Given the description of an element on the screen output the (x, y) to click on. 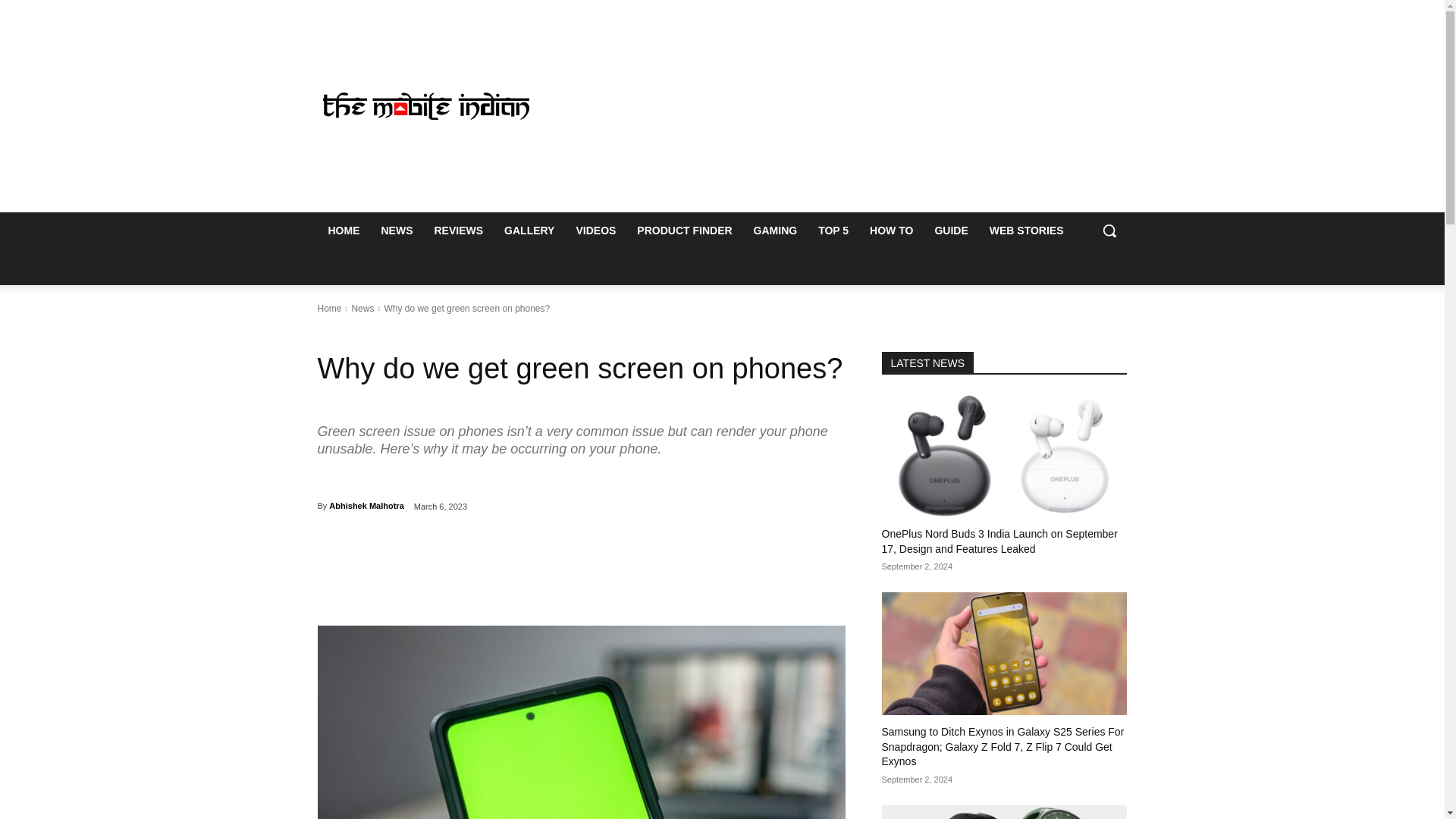
HOW TO (891, 230)
REVIEWS (458, 230)
The Mobile Indian (426, 106)
HOME (343, 230)
View all posts in News (362, 308)
PRODUCT FINDER (684, 230)
GALLERY (528, 230)
News (362, 308)
VIDEOS (595, 230)
TOP 5 (833, 230)
